Given the description of an element on the screen output the (x, y) to click on. 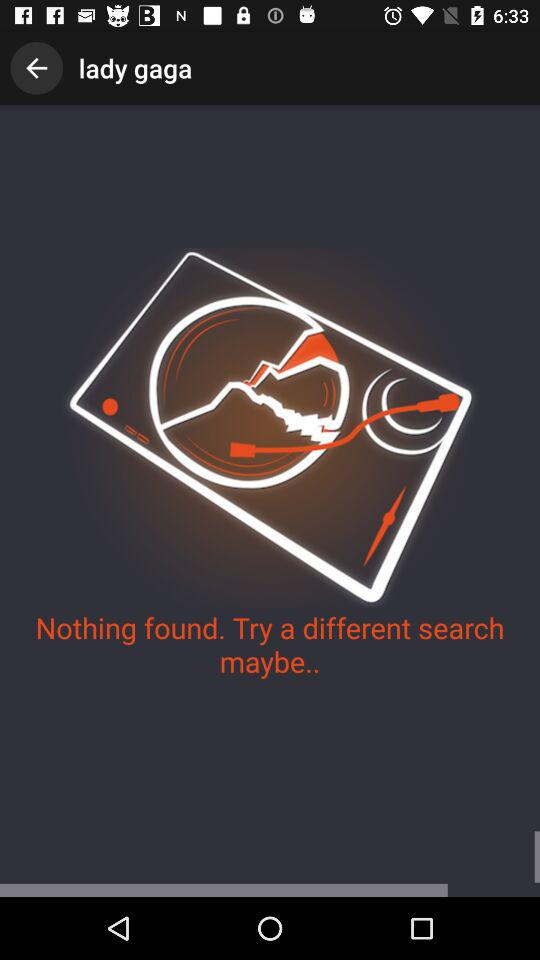
click the item below the nothing found try (270, 863)
